Given the description of an element on the screen output the (x, y) to click on. 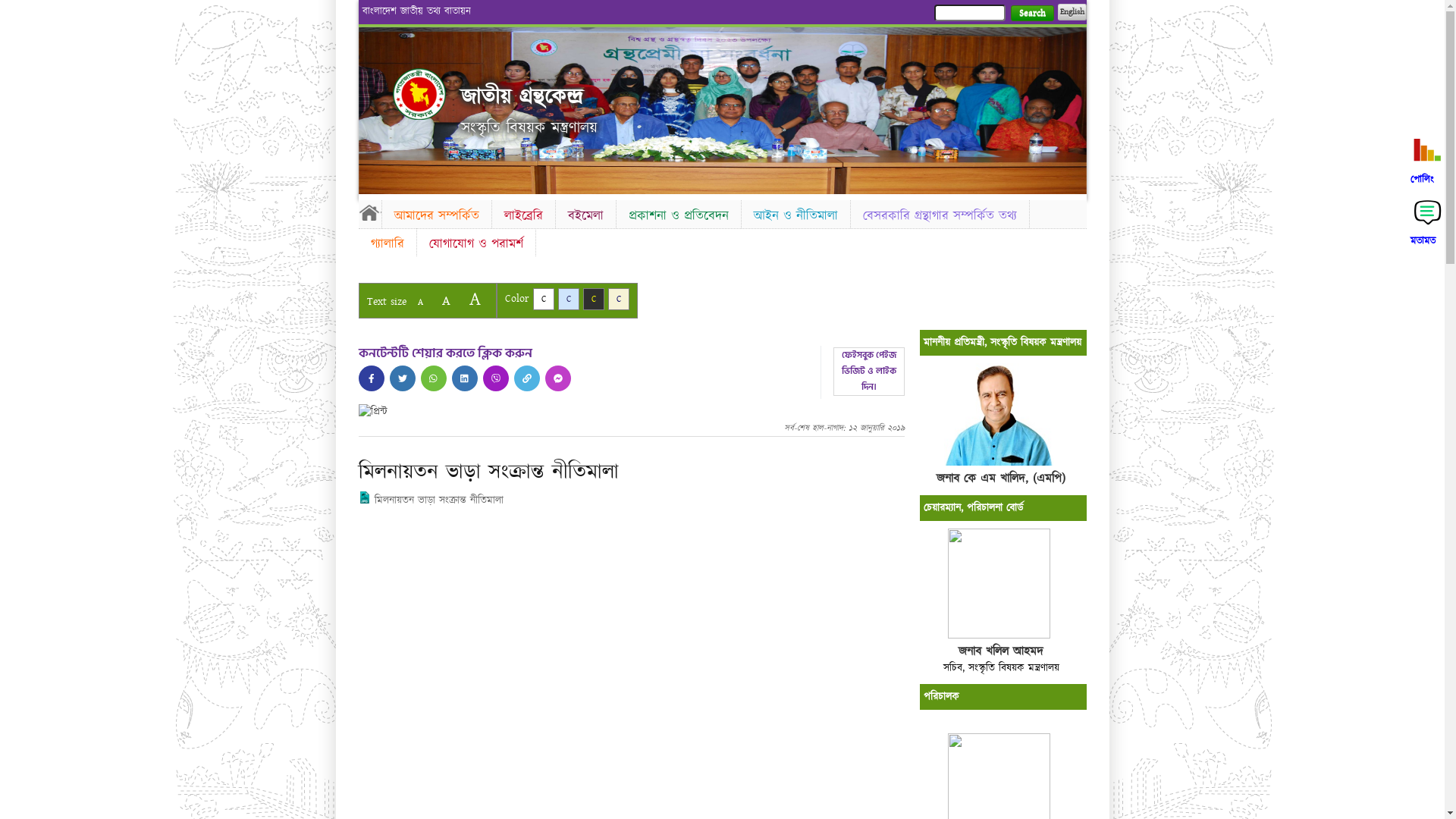
English Element type: text (1071, 11)
Home Element type: hover (418, 93)
A Element type: text (419, 301)
A Element type: text (474, 298)
C Element type: text (618, 299)
Search Element type: text (1031, 13)
C Element type: text (568, 299)
A Element type: text (445, 300)
C Element type: text (542, 299)
Home Element type: hover (368, 211)
C Element type: text (592, 299)
